Given the description of an element on the screen output the (x, y) to click on. 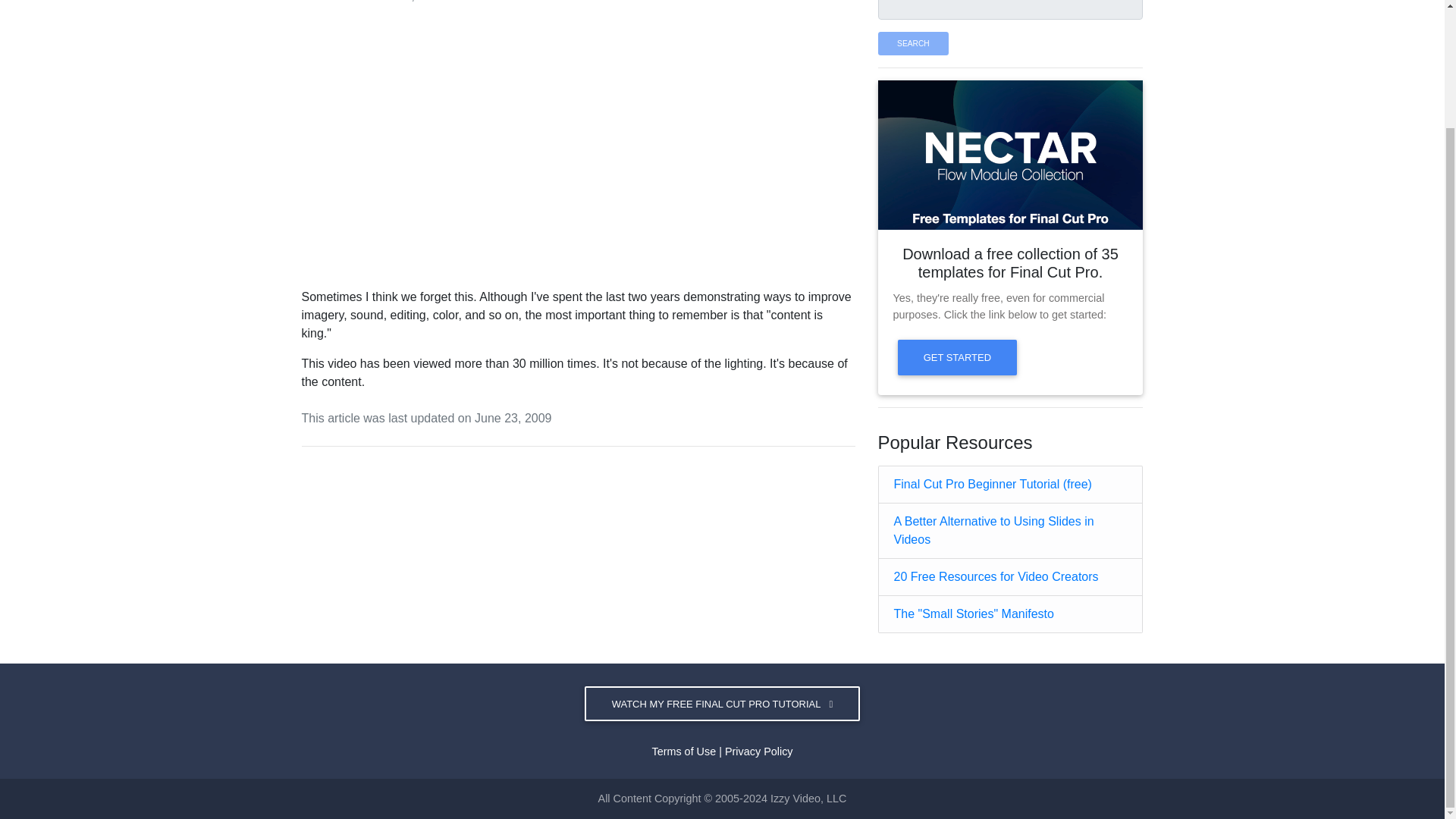
A Better Alternative to Using Slides in Videos (993, 530)
Search (913, 43)
Privacy Policy (759, 751)
Search (913, 43)
GET STARTED (957, 356)
20 Free Resources for Video Creators (995, 576)
Terms of Use (683, 751)
WATCH MY FREE FINAL CUT PRO TUTORIAL (722, 703)
The "Small Stories" Manifesto (972, 613)
